Given the description of an element on the screen output the (x, y) to click on. 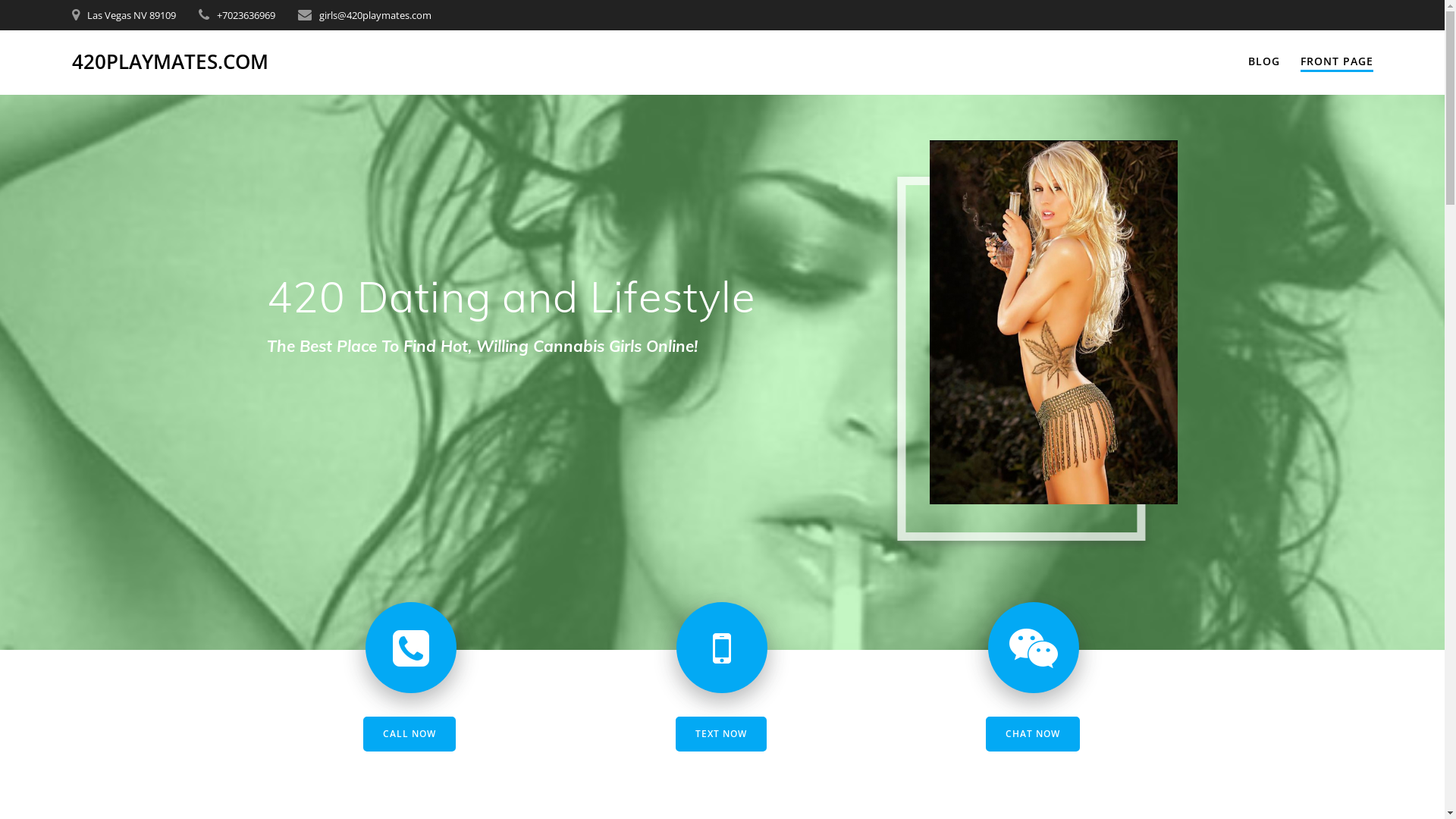
420PLAYMATES.COM Element type: text (170, 62)
CALL NOW Element type: text (409, 733)
TEXT NOW Element type: text (720, 733)
BLOG Element type: text (1264, 61)
FRONT PAGE Element type: text (1336, 62)
CHAT NOW Element type: text (1032, 733)
